Given the description of an element on the screen output the (x, y) to click on. 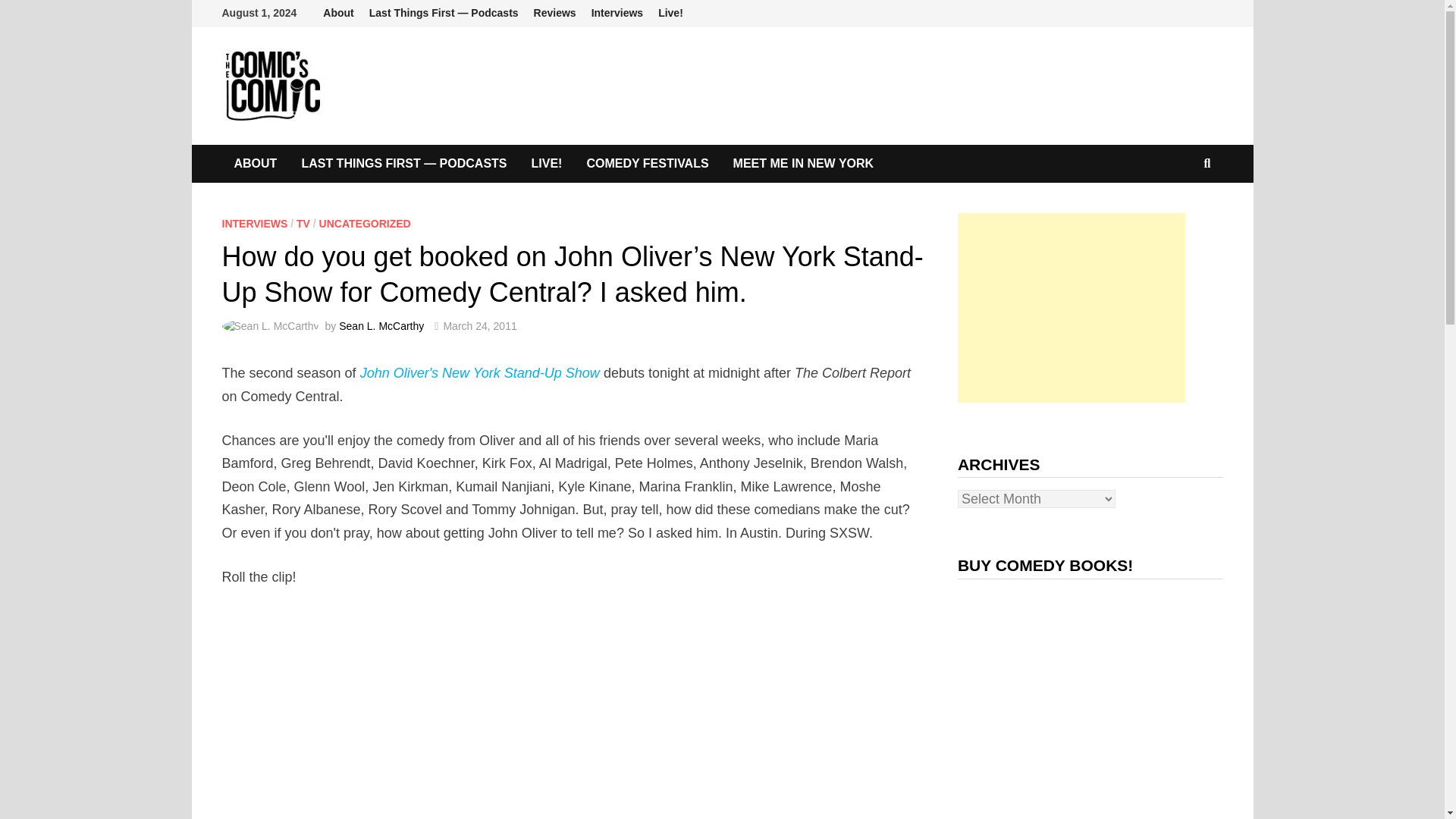
TV (303, 223)
INTERVIEWS (253, 223)
Sean L. McCarthy (381, 326)
Interviews (616, 13)
YouTube video player (410, 714)
COMEDY FESTIVALS (646, 163)
UNCATEGORIZED (364, 223)
MEET ME IN NEW YORK (803, 163)
Live! (670, 13)
John Oliver's New York Stand-Up Show (479, 372)
About (338, 13)
Reviews (554, 13)
March 24, 2011 (479, 326)
ABOUT (254, 163)
LIVE! (547, 163)
